Given the description of an element on the screen output the (x, y) to click on. 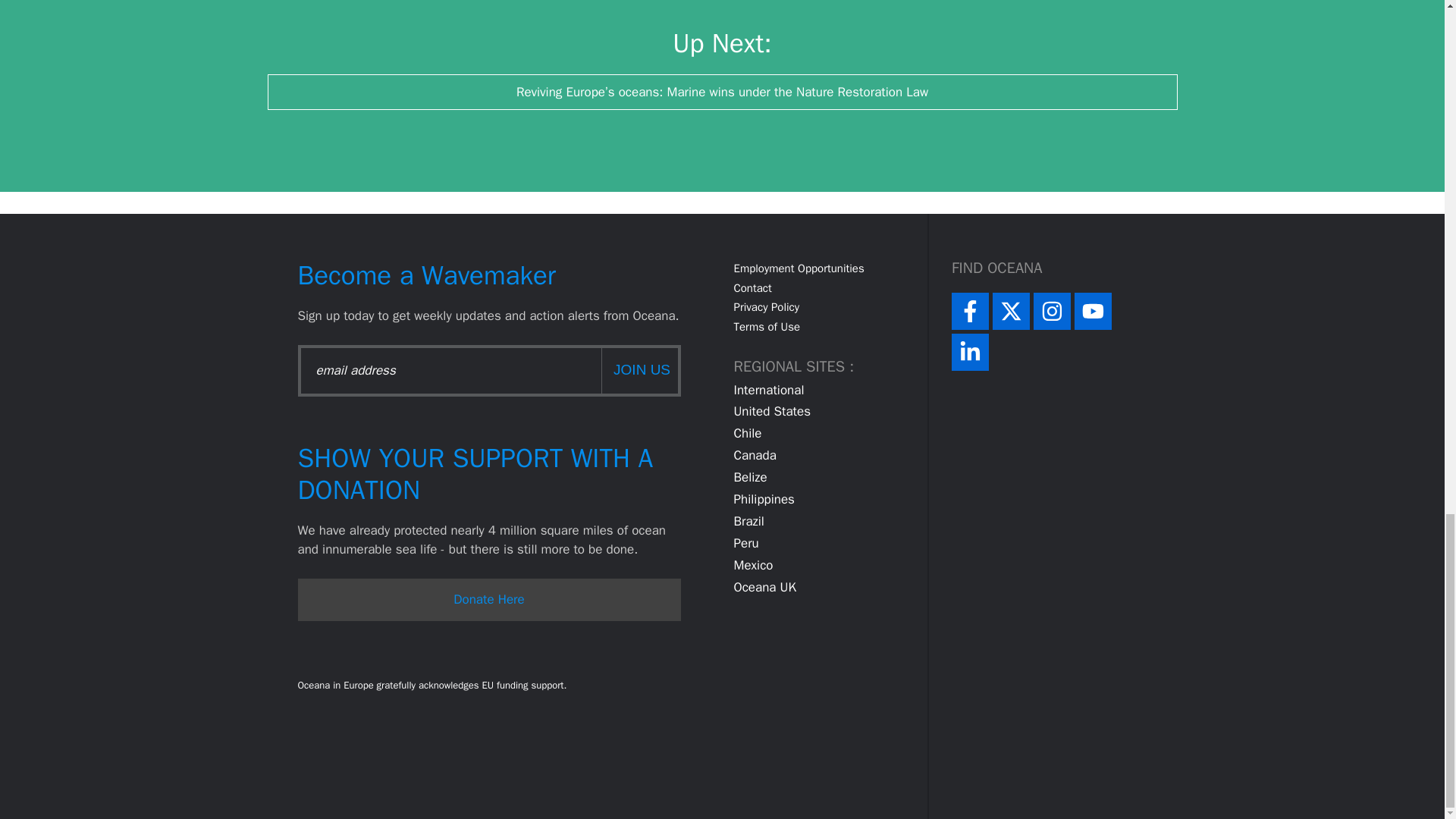
Scroll back to top (1406, 135)
JOIN US (639, 370)
